Given the description of an element on the screen output the (x, y) to click on. 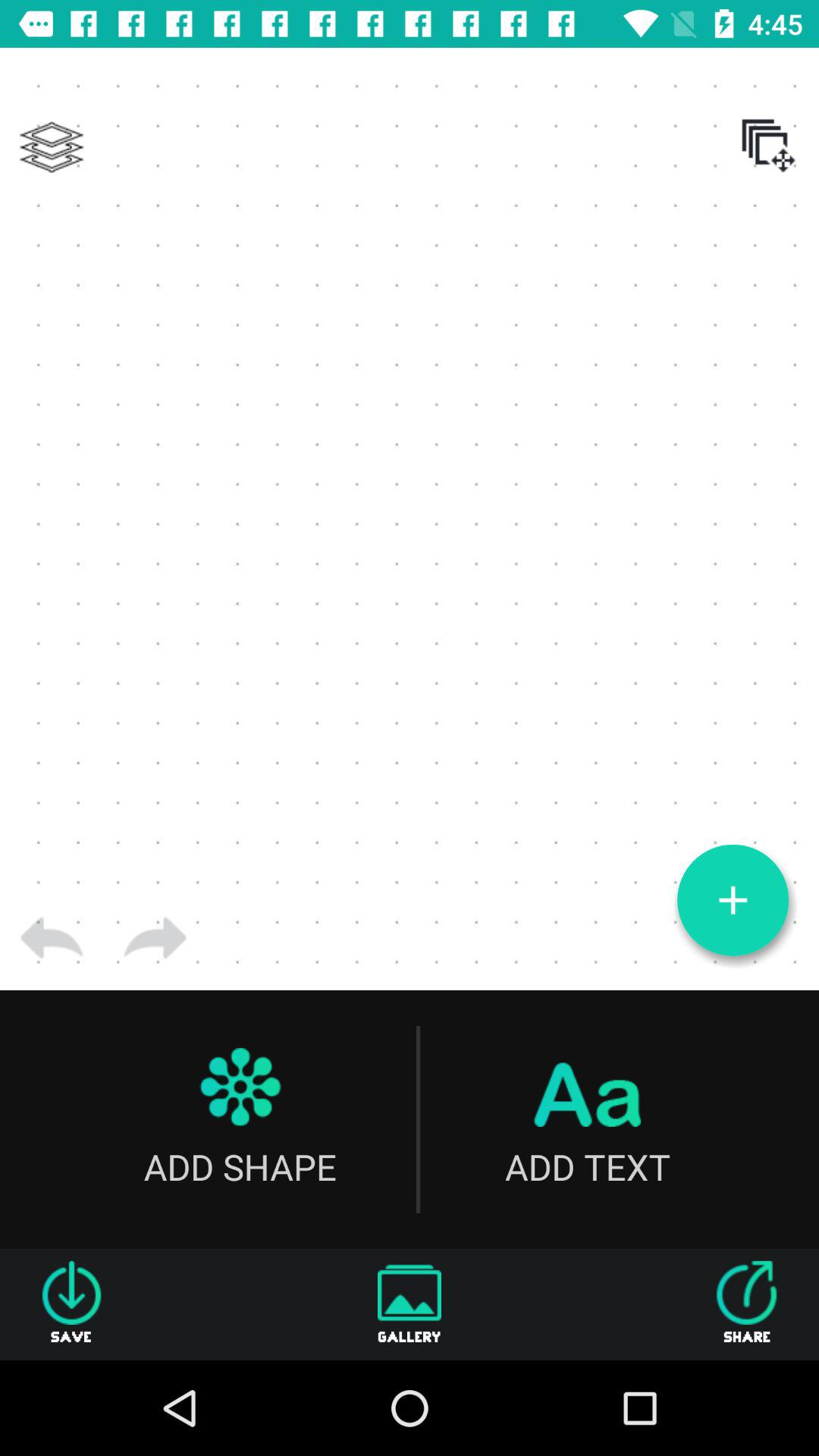
press icon at the top left corner (51, 147)
